Given the description of an element on the screen output the (x, y) to click on. 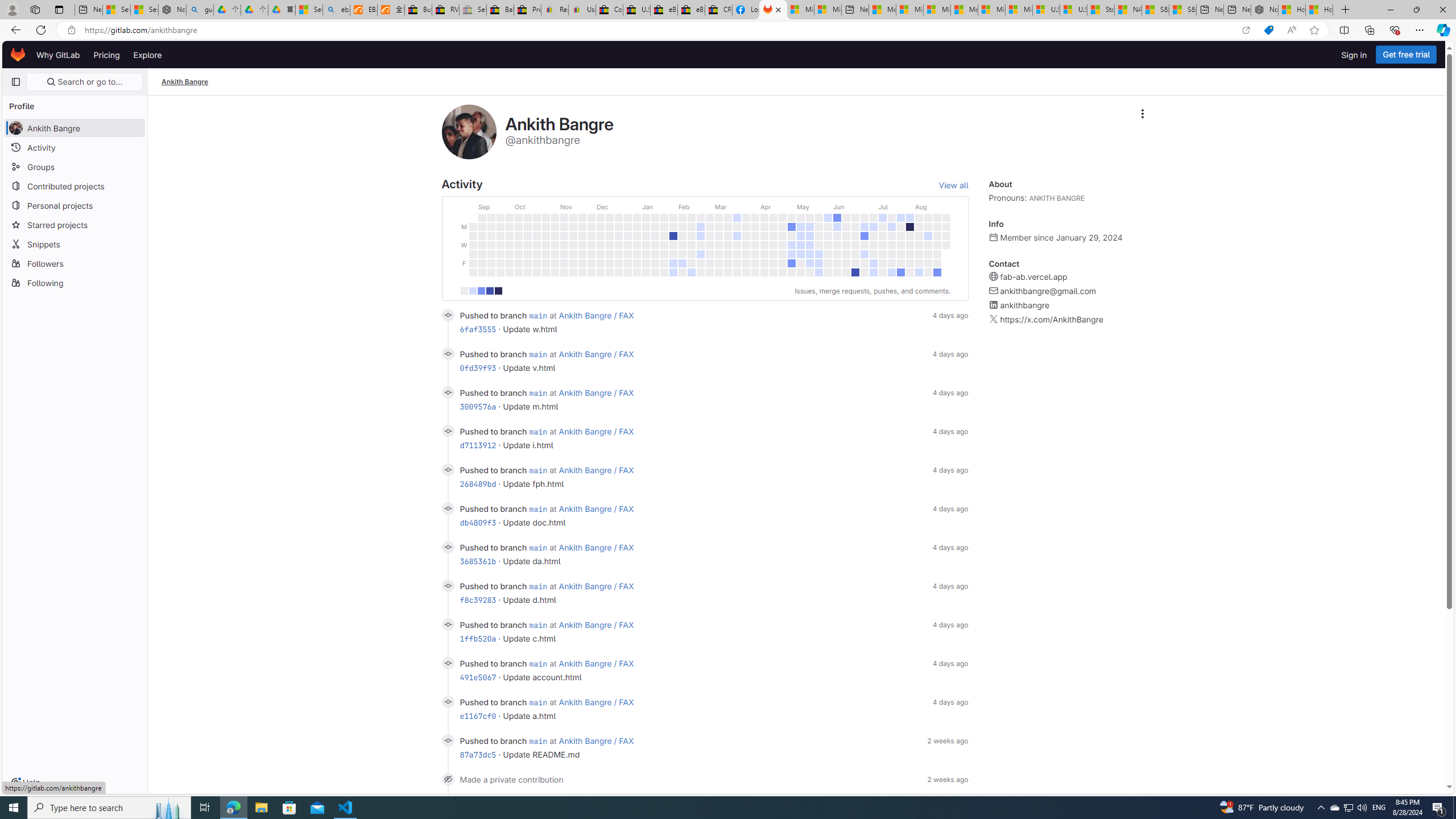
Microsoft account | Privacy (909, 9)
Contributed projects (74, 185)
Primary navigation sidebar (15, 81)
